Given the description of an element on the screen output the (x, y) to click on. 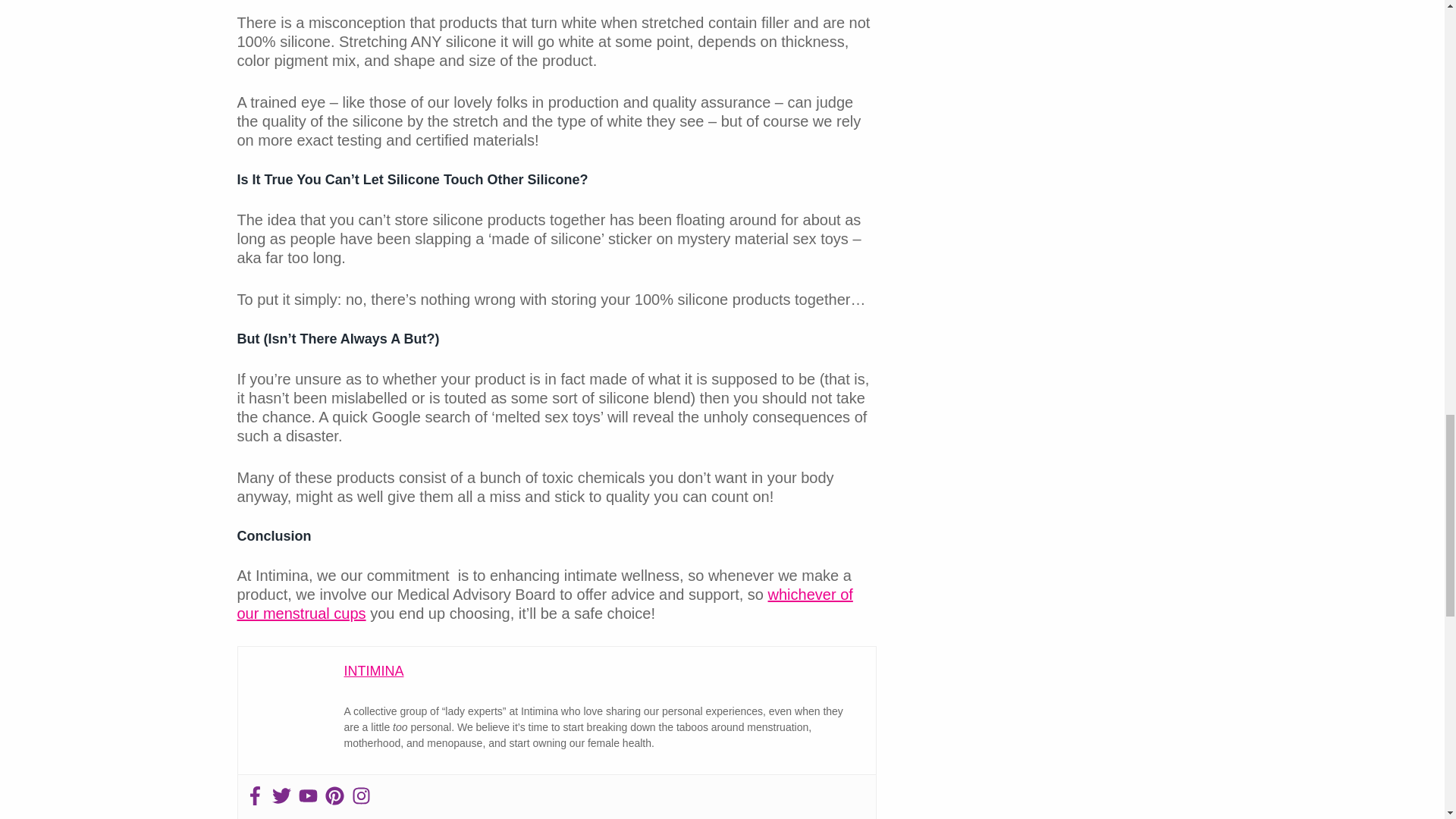
whichever of our menstrual cups (543, 603)
INTIMINA (373, 670)
Youtube (307, 796)
Instagram (361, 796)
Pinterest (333, 796)
Twitter (279, 796)
Facebook (255, 796)
